Given the description of an element on the screen output the (x, y) to click on. 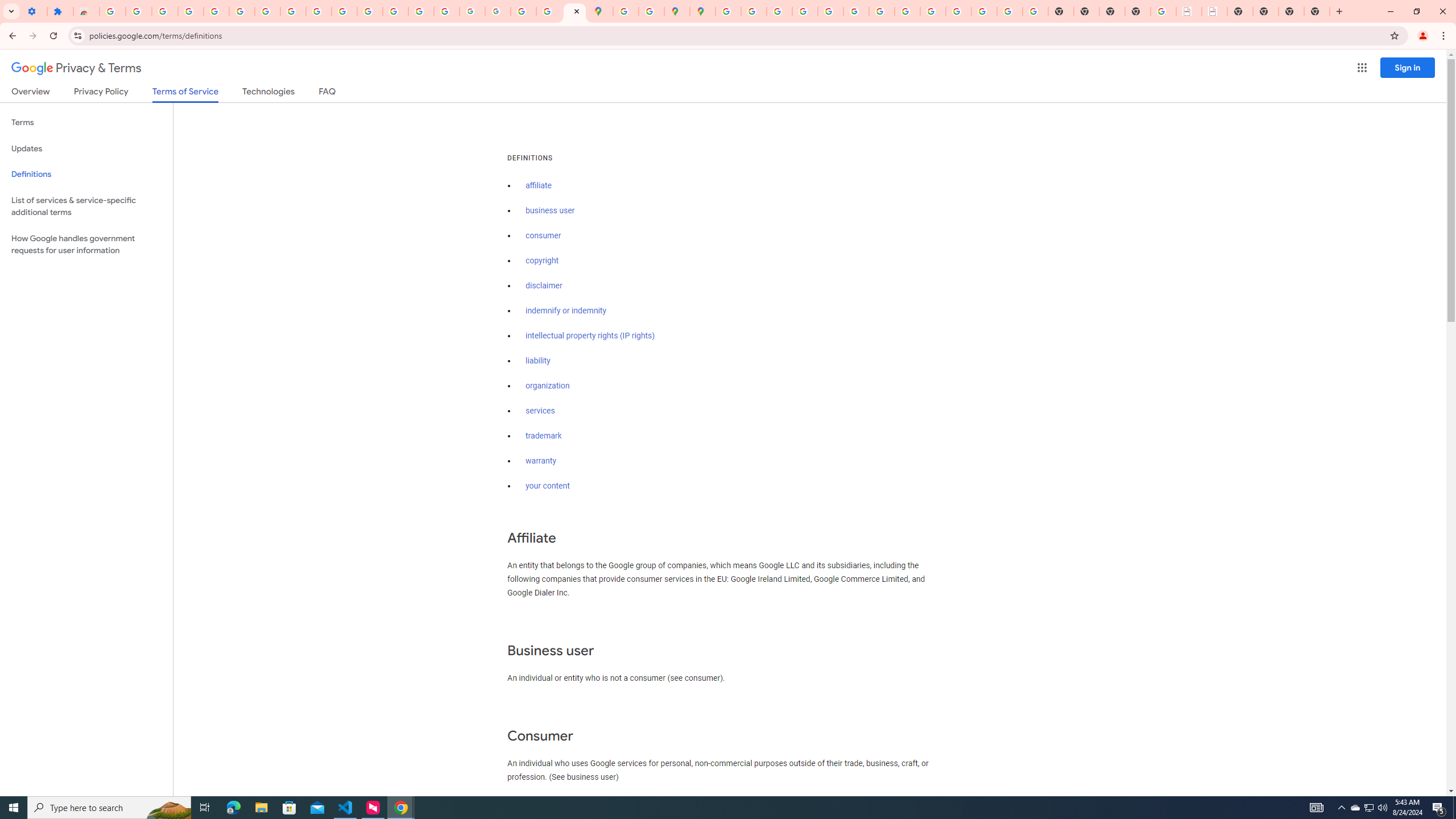
Privacy Help Center - Policies Help (779, 11)
copyright (542, 260)
trademark (543, 435)
intellectual property rights (IP rights) (590, 335)
organization (547, 385)
services (539, 411)
